Given the description of an element on the screen output the (x, y) to click on. 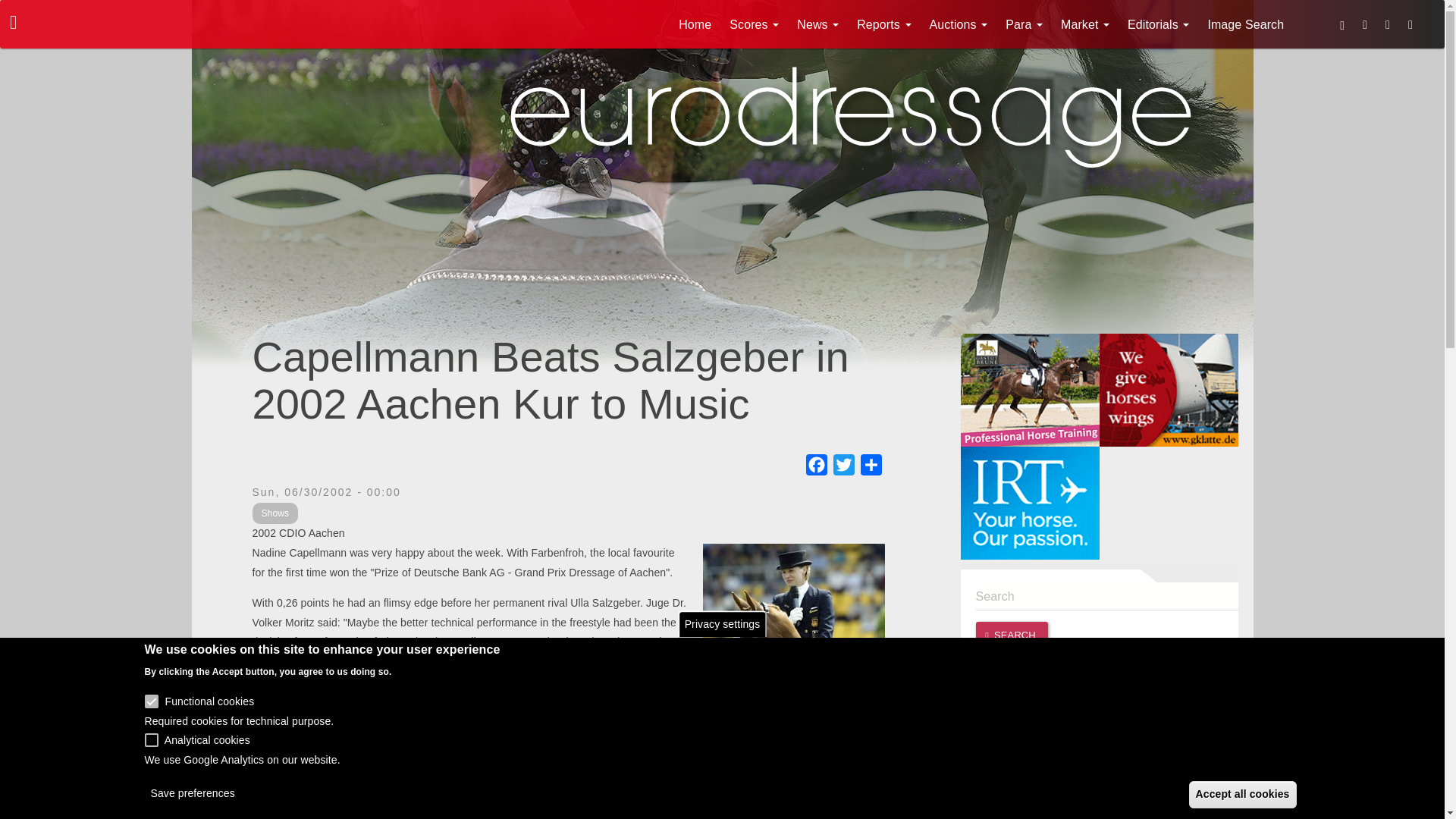
Home (694, 24)
Enter the terms you wish to search for. (1106, 596)
Scores (753, 24)
News (817, 24)
Reports (883, 24)
Auctions (958, 24)
